Given the description of an element on the screen output the (x, y) to click on. 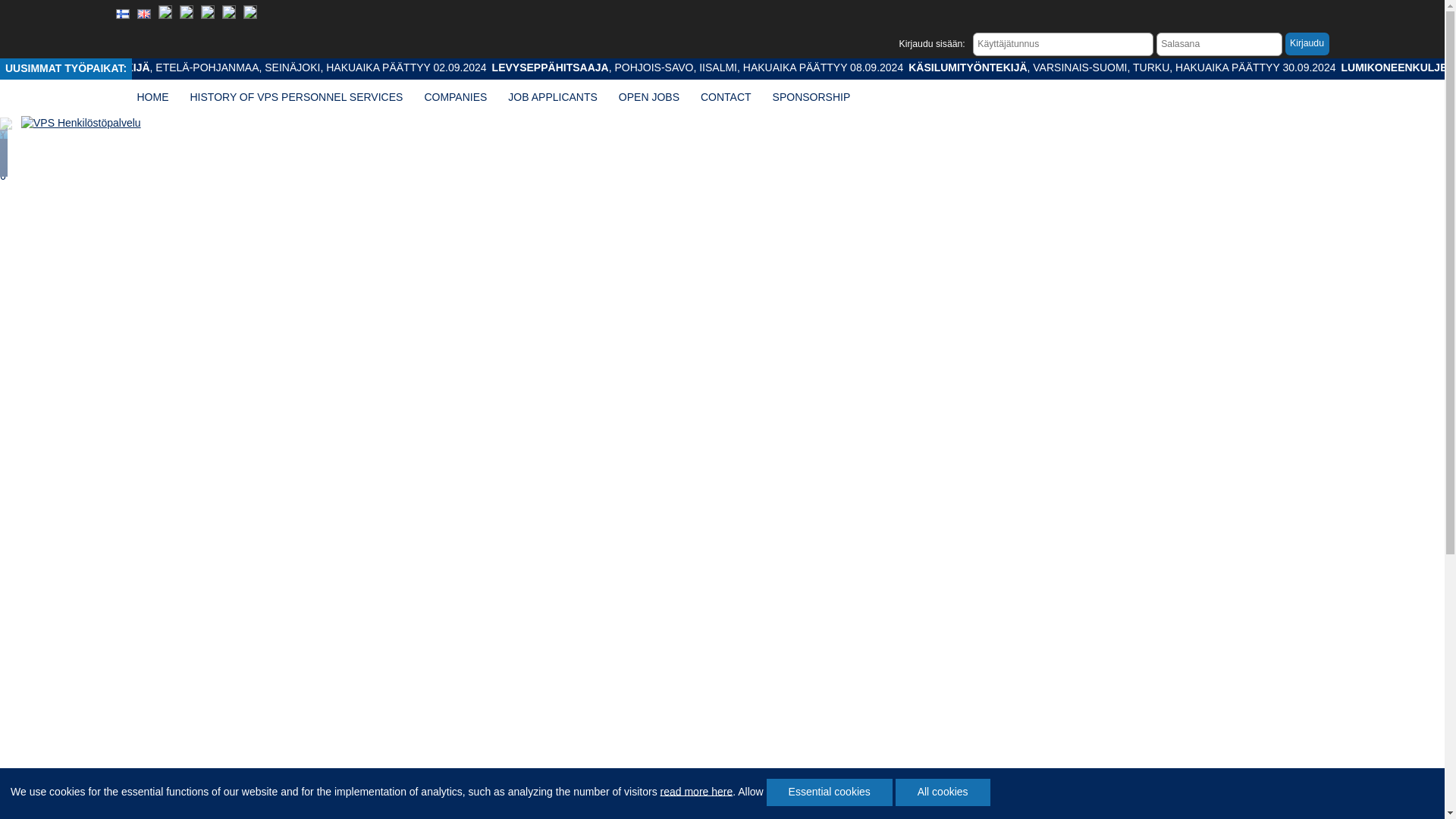
Essential cookies (829, 791)
Kirjaudu (1307, 43)
read more here (697, 790)
All cookies (942, 791)
